Given the description of an element on the screen output the (x, y) to click on. 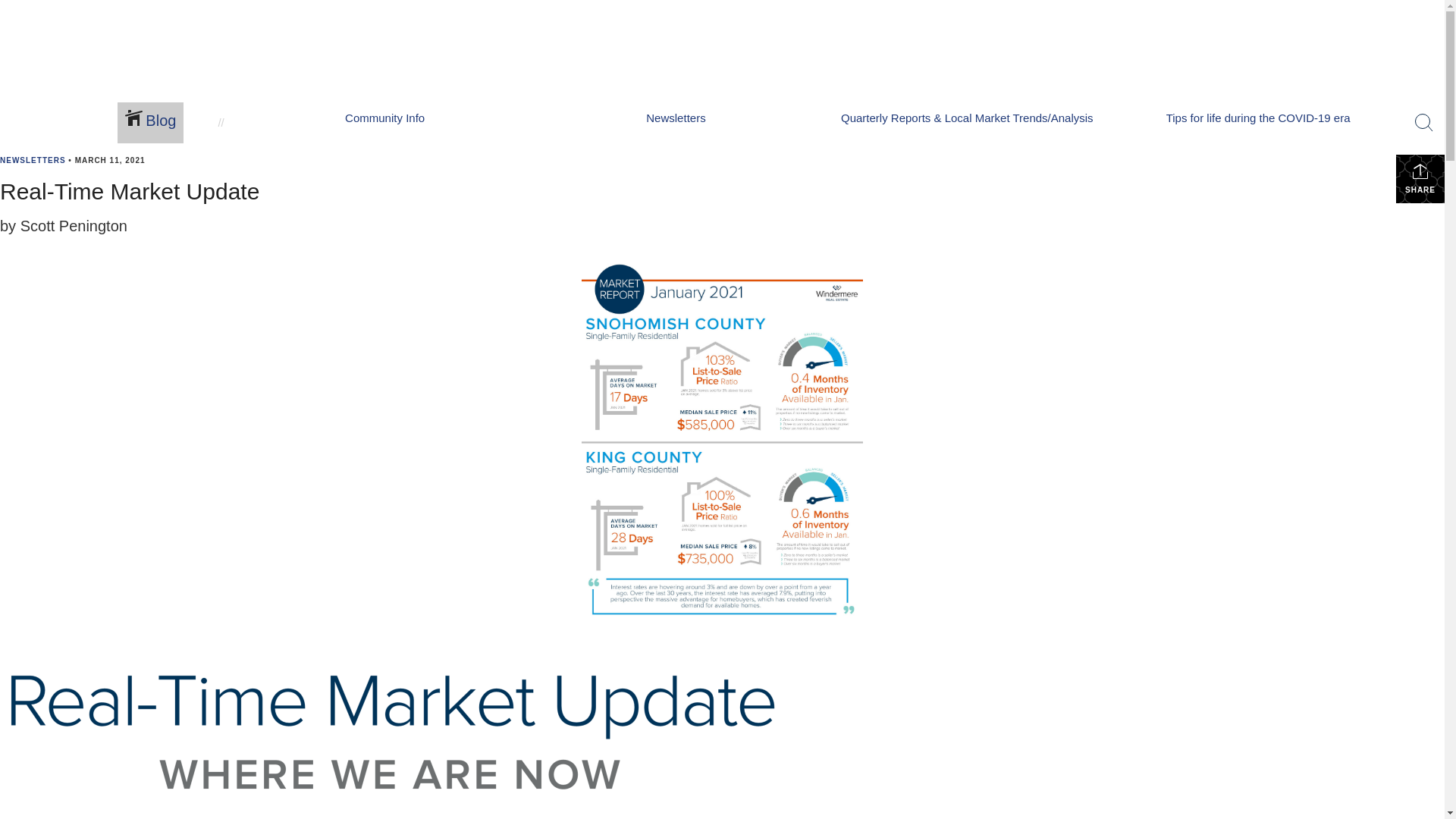
Get to know Scott (168, 107)
Community Info (385, 122)
Blog (251, 75)
Contact Me (149, 120)
Windermere Blog (290, 120)
Properties (417, 75)
About Me (141, 75)
Market Statistics (696, 75)
Financial Calculators (568, 120)
Tips for life during the COVID-19 era (1257, 122)
Property Search (437, 107)
Blog (150, 122)
Snohomish County Market Statistics (752, 107)
Newsletters (676, 122)
King County Market Statistics (734, 120)
